Given the description of an element on the screen output the (x, y) to click on. 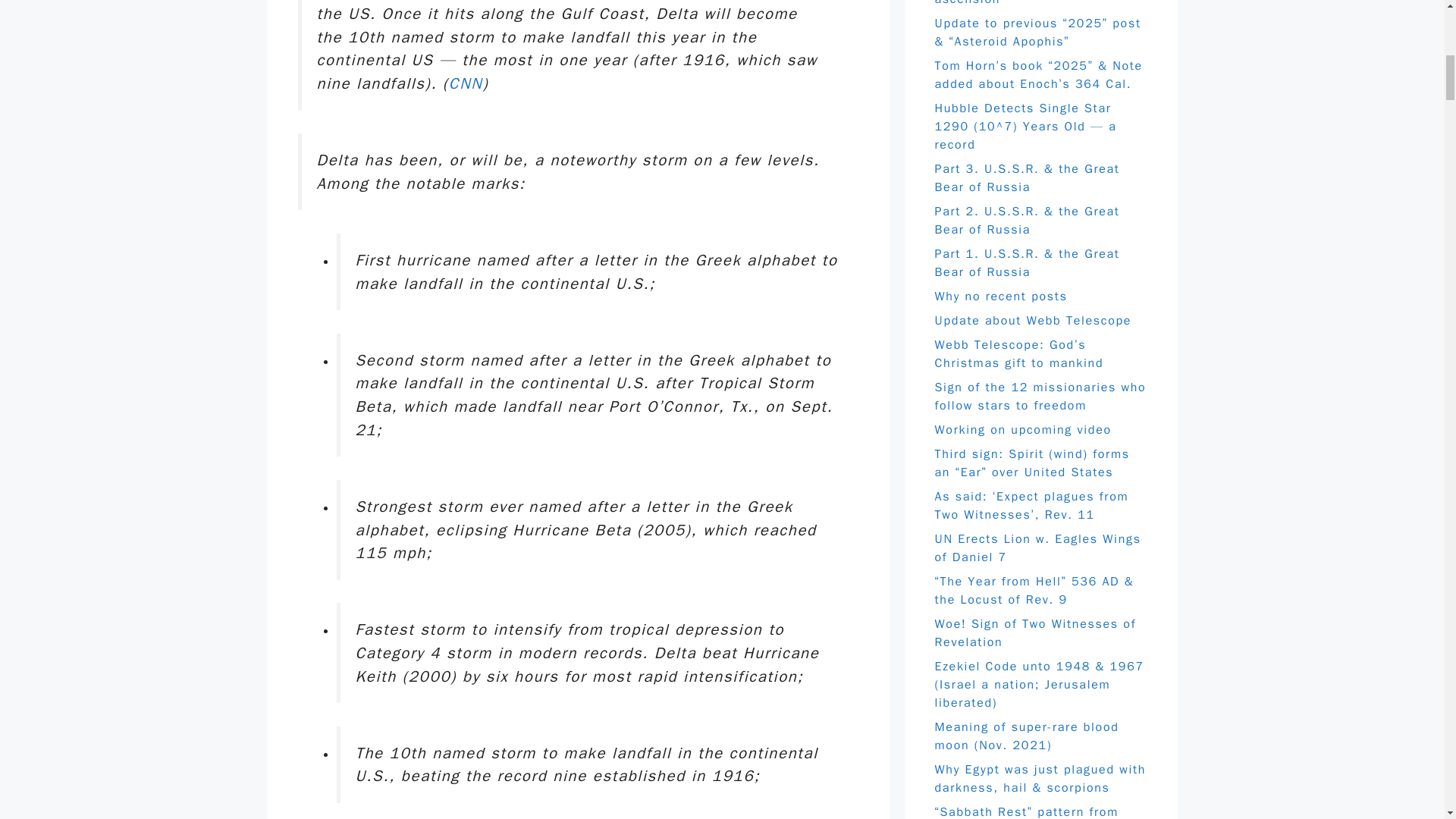
Scroll back to top (1406, 720)
